Given the description of an element on the screen output the (x, y) to click on. 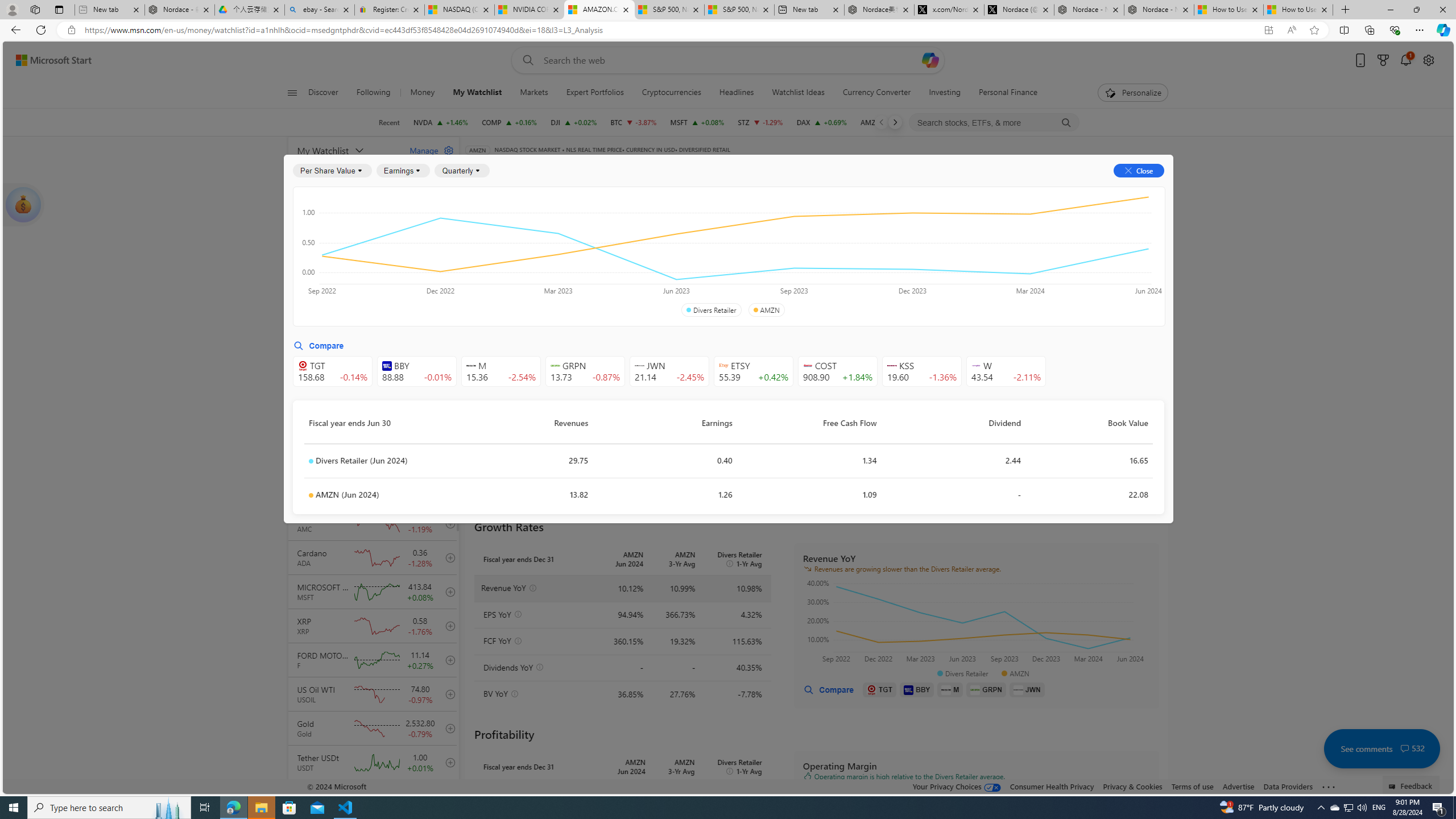
Register: Create a personal eBay account (389, 9)
Microsoft Start (53, 60)
Annual (491, 286)
Class: autoSuggestIcon-DS-EntryPoint1-2 (976, 365)
Investing (944, 92)
Feedback (1411, 784)
Privacy & Cookies (1131, 786)
show card (22, 204)
Personal Finance (1003, 92)
My Watchlist (477, 92)
New tab - Sleeping (109, 9)
